Given the description of an element on the screen output the (x, y) to click on. 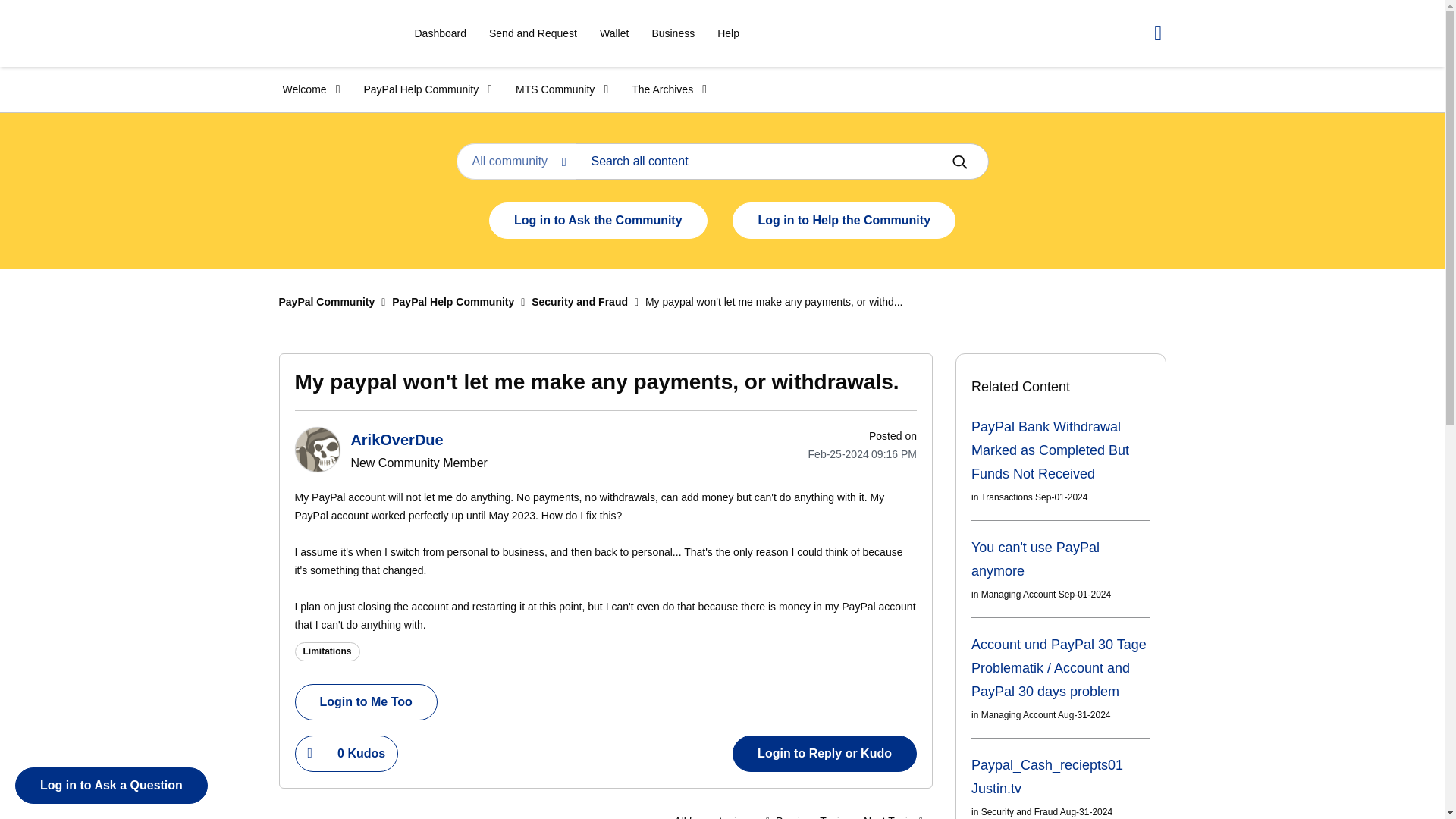
Posted on (845, 454)
Security and Fraud (710, 812)
The total number of kudos this post has received. (360, 753)
Search Granularity (516, 161)
ArikOverDue (316, 449)
PayPal Help Community (422, 89)
Help (728, 33)
Search (781, 161)
PayPal Community (331, 33)
